Given the description of an element on the screen output the (x, y) to click on. 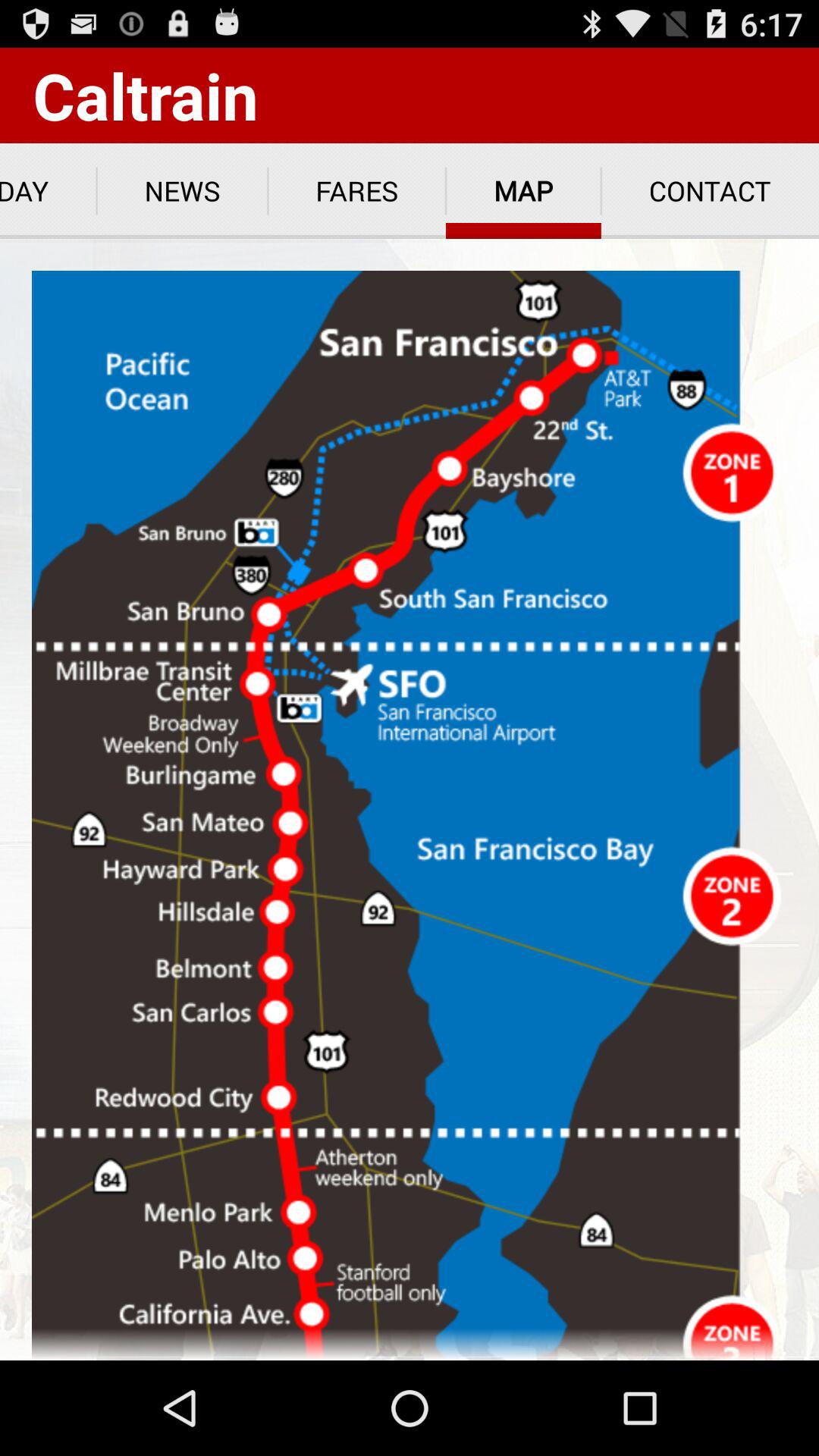
turn on the app next to map (710, 190)
